Given the description of an element on the screen output the (x, y) to click on. 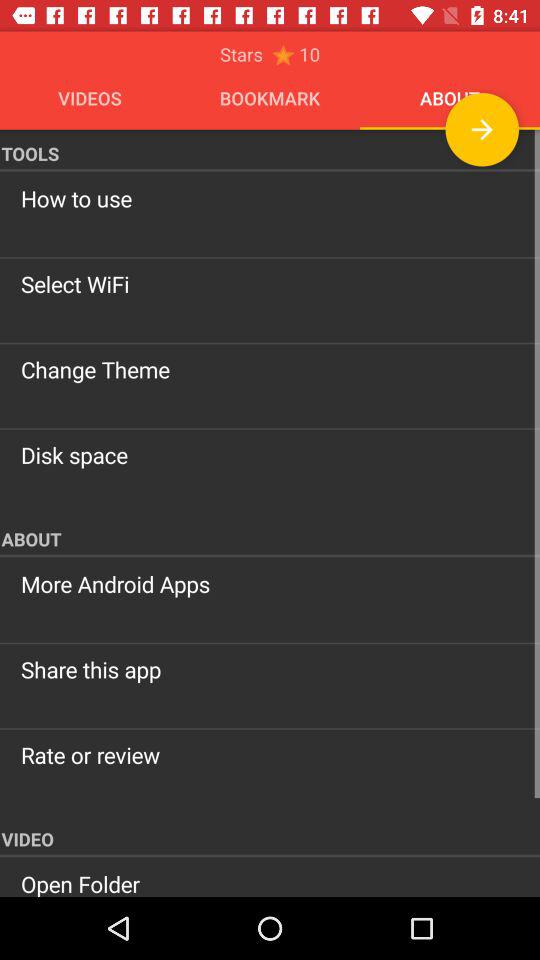
swipe to video item (270, 836)
